Given the description of an element on the screen output the (x, y) to click on. 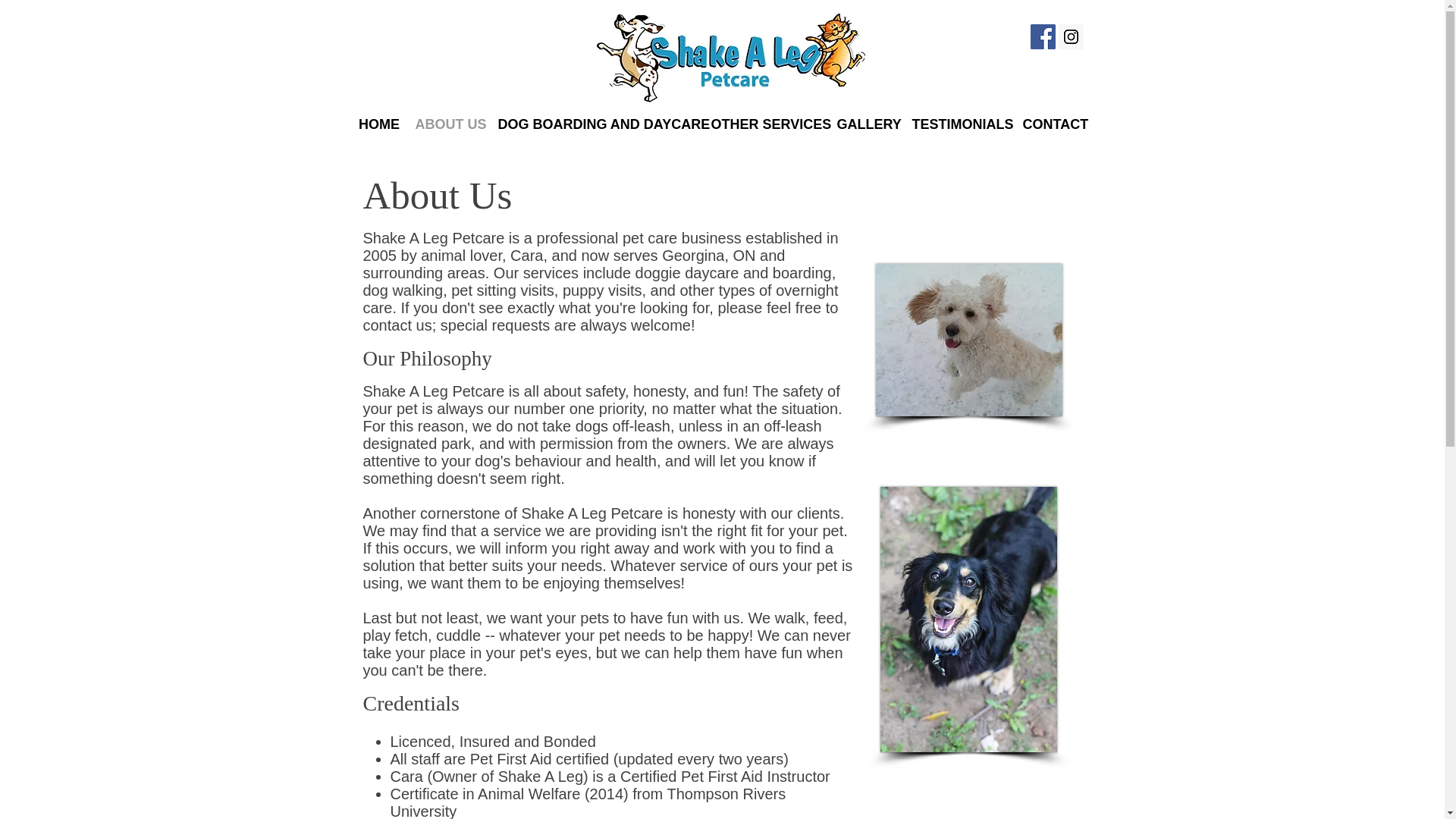
TESTIMONIALS (959, 124)
DOG BOARDING AND DAYCARE (596, 124)
ABOUT US (448, 124)
GALLERY (866, 124)
CONTACT (1053, 124)
HOME (378, 124)
